Given the description of an element on the screen output the (x, y) to click on. 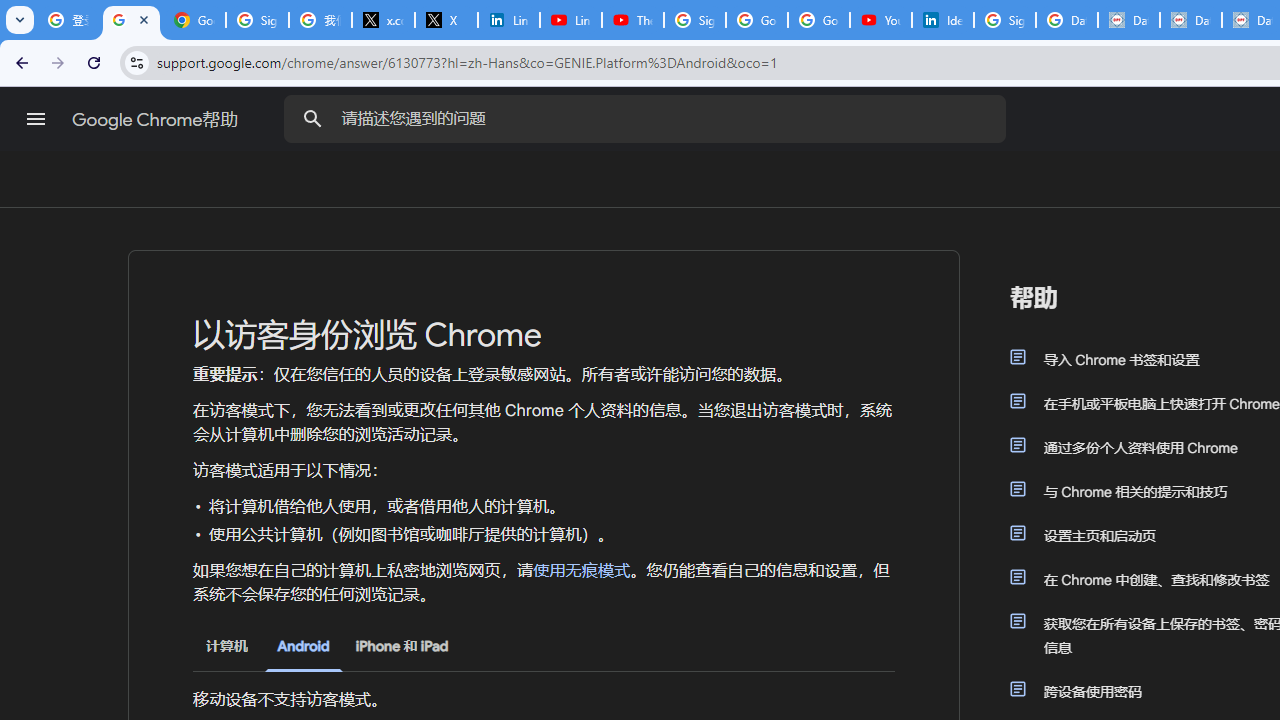
Data Privacy Framework (1190, 20)
Data Privacy Framework (1128, 20)
Android (303, 646)
Sign in - Google Accounts (257, 20)
X (445, 20)
